Given the description of an element on the screen output the (x, y) to click on. 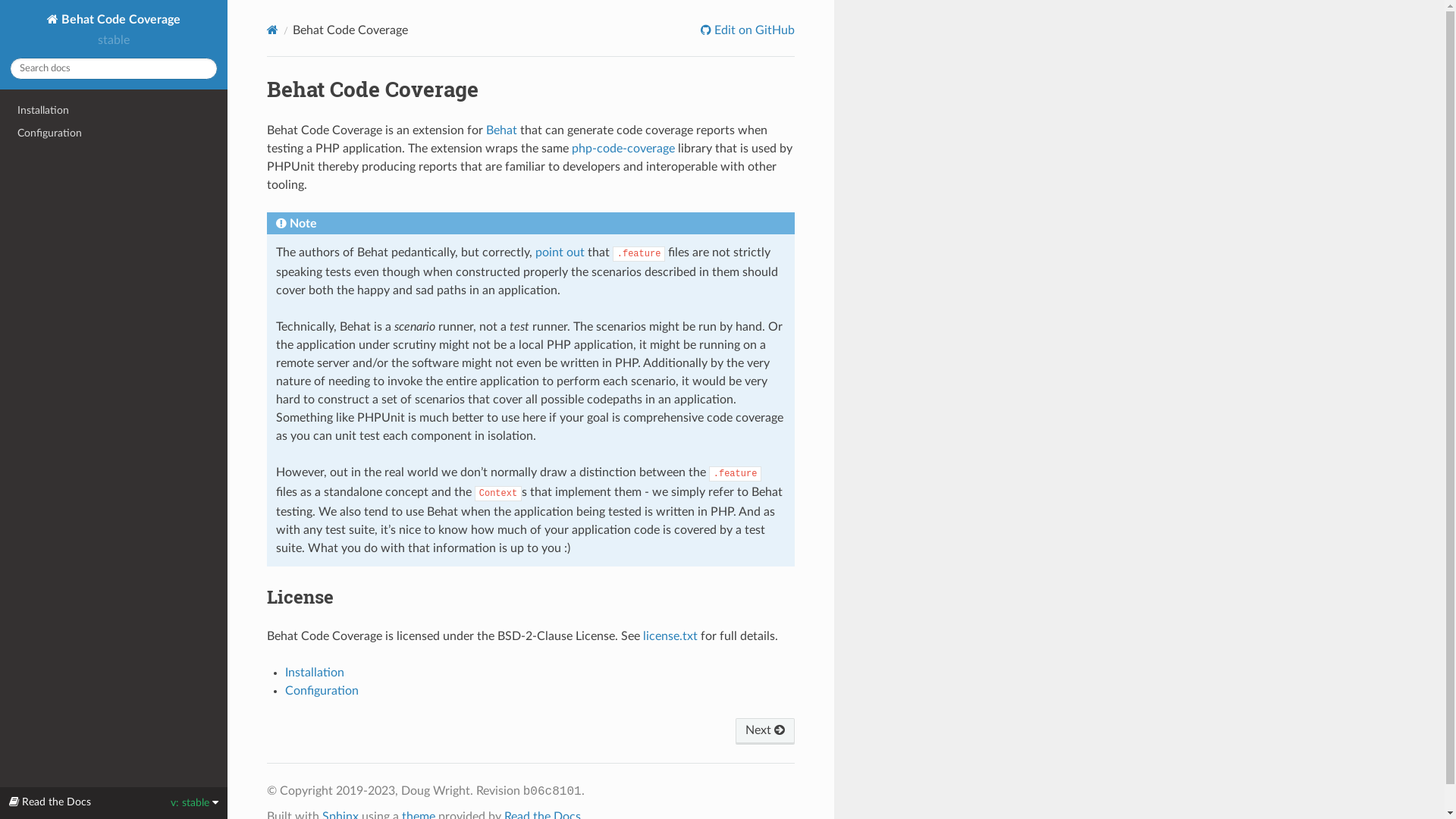
Installation Element type: text (113, 110)
Behat Code Coverage Element type: text (113, 18)
license.txt Element type: text (670, 636)
php-code-coverage Element type: text (622, 148)
Behat Element type: text (501, 130)
point out Element type: text (559, 252)
Configuration Element type: text (113, 133)
Next Element type: text (764, 731)
Installation Element type: text (314, 672)
Configuration Element type: text (321, 690)
Edit on GitHub Element type: text (747, 29)
